Given the description of an element on the screen output the (x, y) to click on. 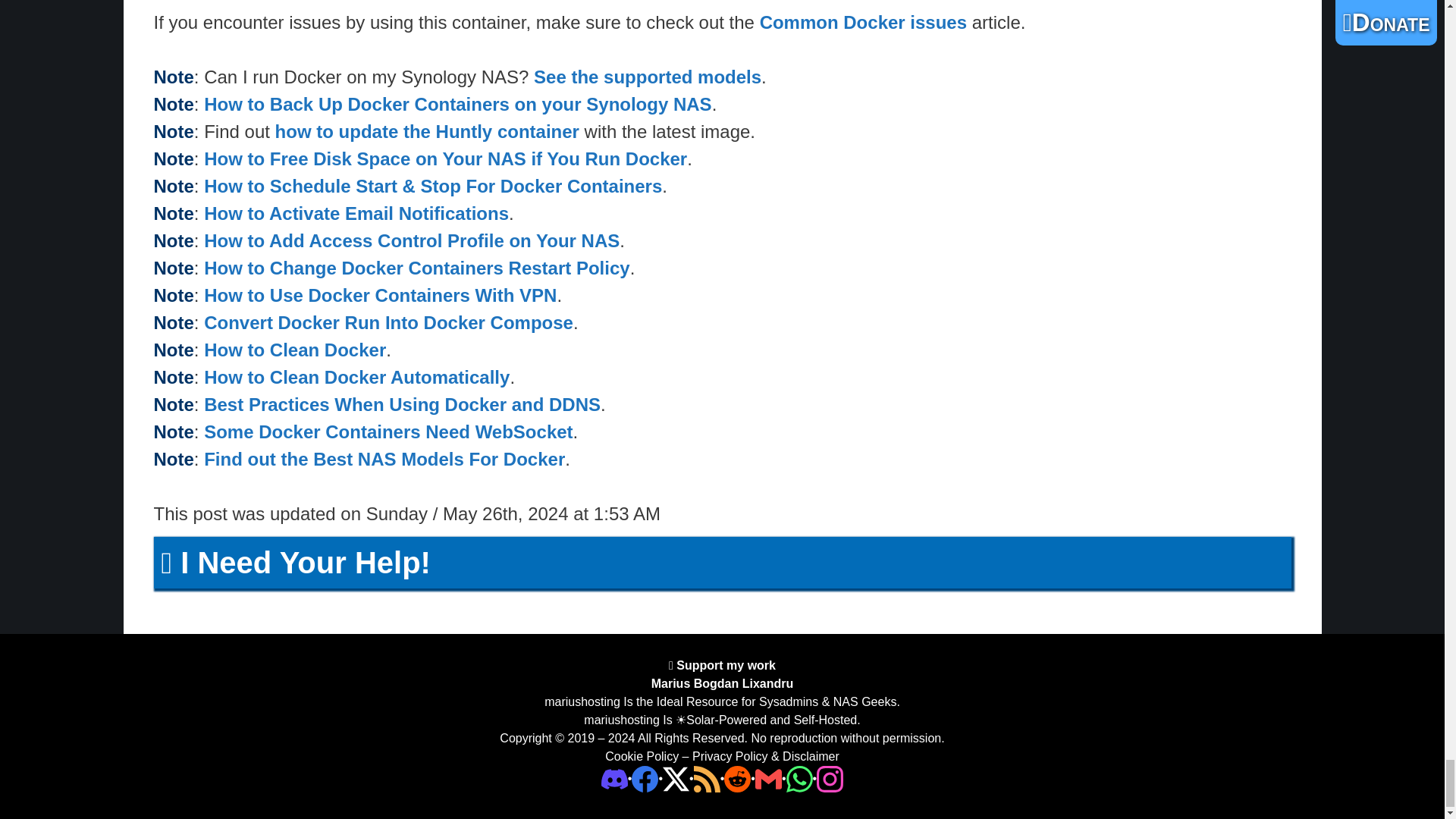
How to Add Access Control Profile on Your NAS (411, 240)
how to update the Huntly container (427, 131)
How to Clean Docker Automatically (356, 376)
Convert Docker Run Into Docker Compose (388, 322)
See the supported models (647, 76)
How to Free Disk Space on Your NAS if You Run Docker (445, 158)
Some Docker Containers Need WebSocket (387, 431)
How to Back Up Docker Containers on your Synology NAS (457, 104)
Common Docker issues (863, 22)
How to Activate Email Notifications (355, 213)
